Given the description of an element on the screen output the (x, y) to click on. 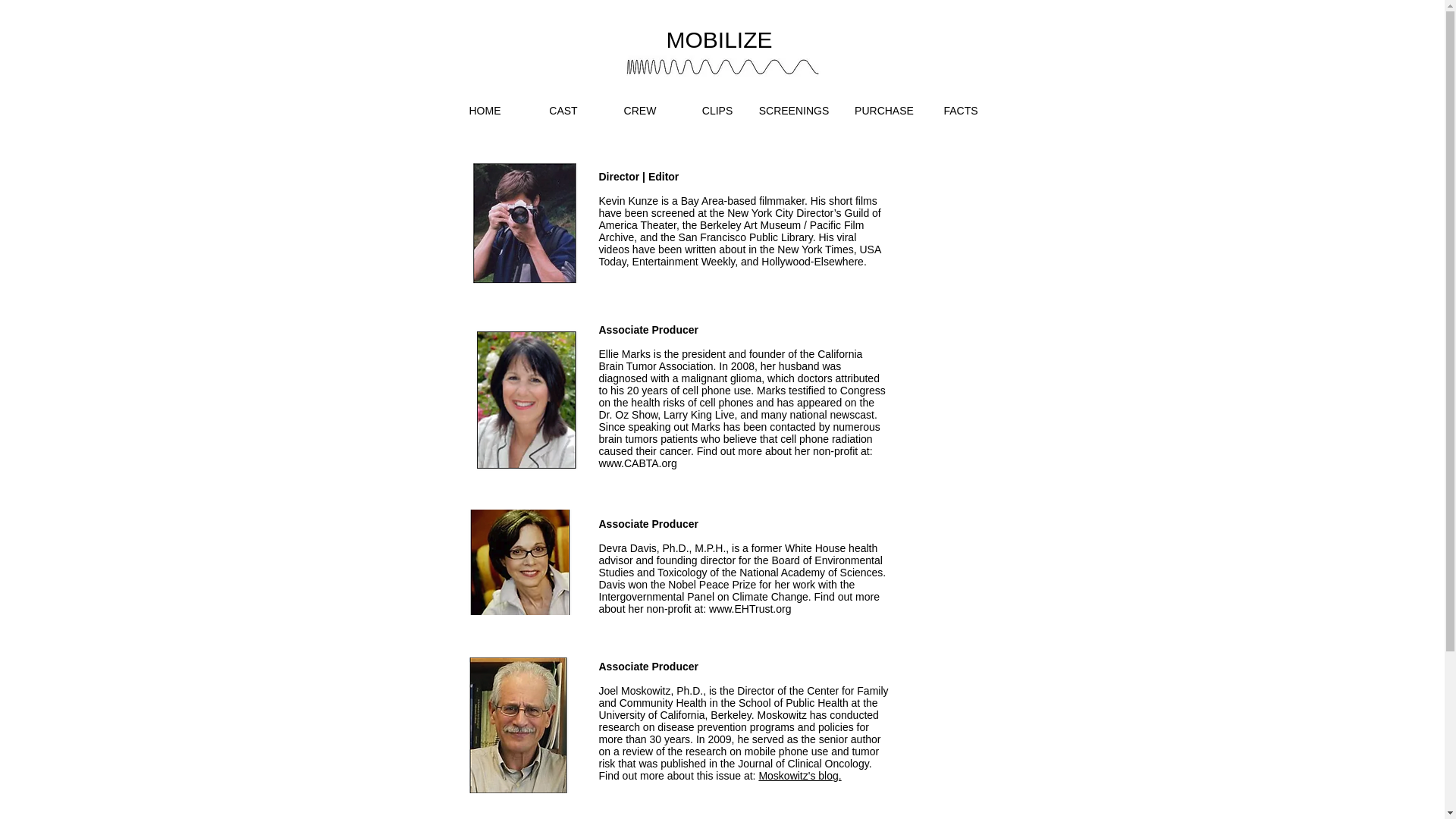
FACTS (959, 111)
SCREENINGS (793, 111)
www.EHTrust.org (749, 608)
CLIPS (717, 111)
CREW (640, 111)
PURCHASE (884, 111)
HOME (484, 111)
CAST (562, 111)
Moskowitz's blog. (799, 775)
MOBILIZE (718, 35)
